Given the description of an element on the screen output the (x, y) to click on. 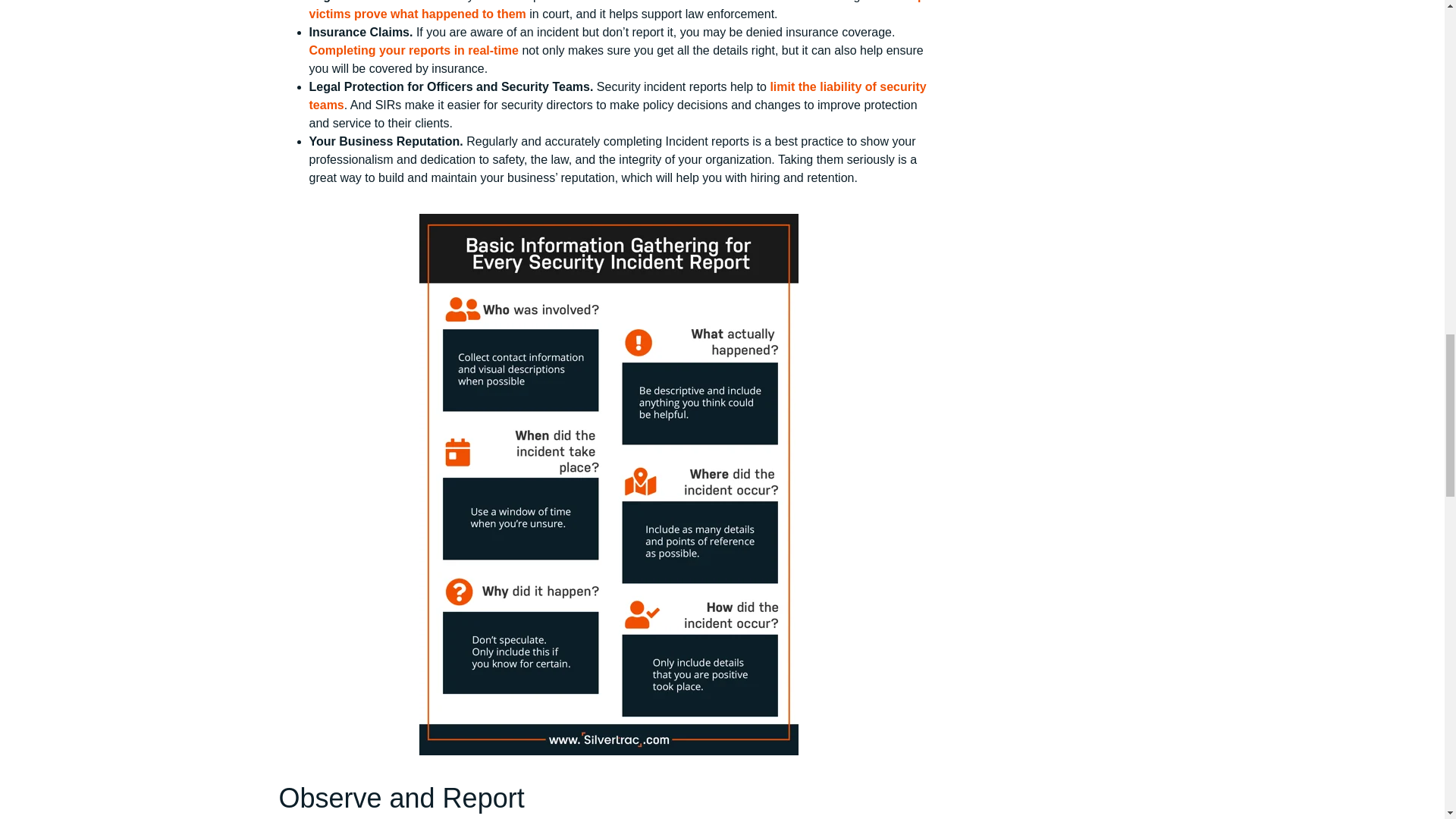
help victims prove what happened to them (616, 10)
limit the liability of security teams (617, 95)
Completing your reports in real-time (413, 50)
